Given the description of an element on the screen output the (x, y) to click on. 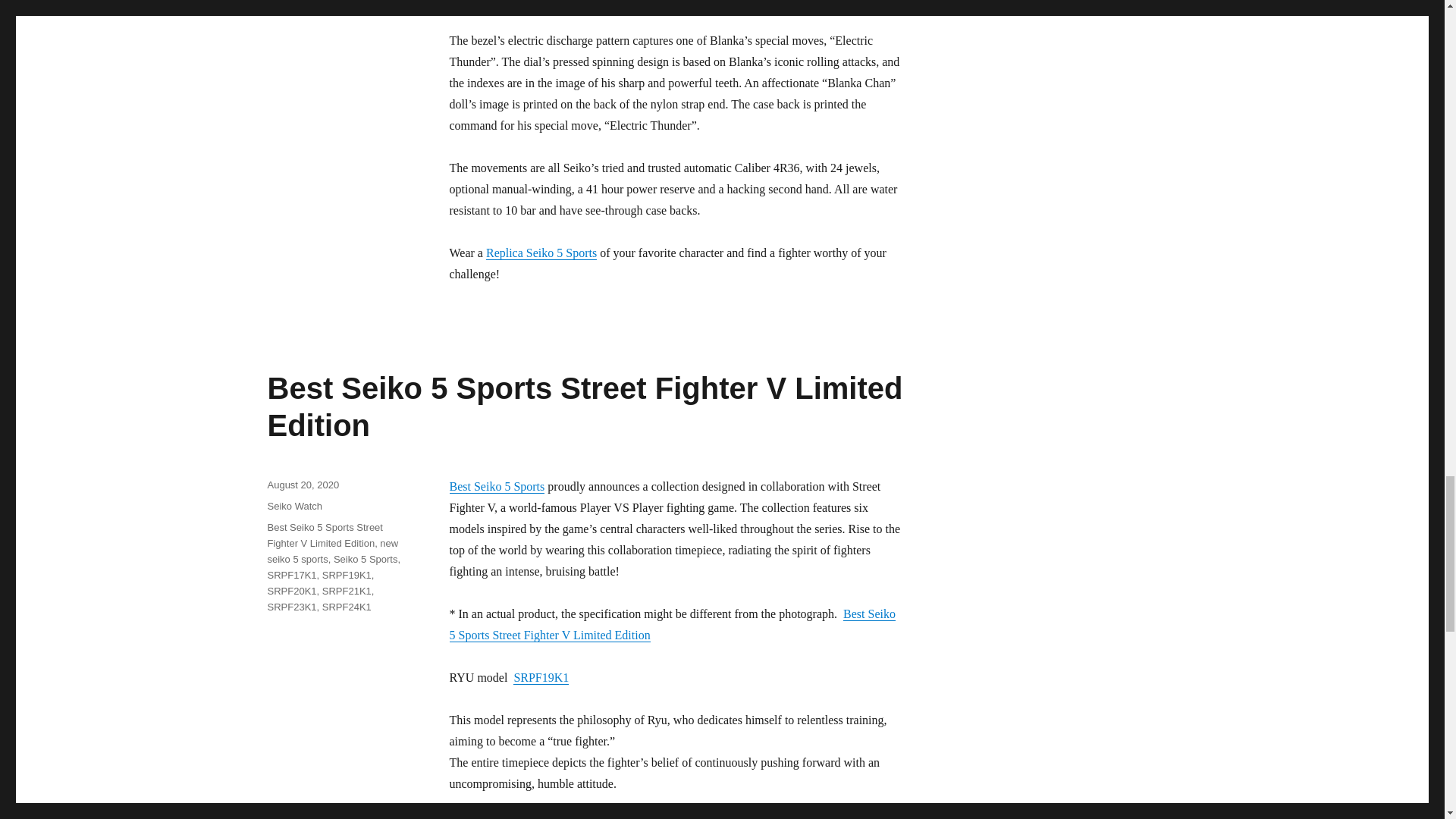
Best Seiko 5 Sports (496, 486)
SRPF23K1  (627, 2)
Replica Seiko 5 Sports (541, 252)
Best Seiko 5 Sports Street Fighter V Limited Edition (584, 406)
